Given the description of an element on the screen output the (x, y) to click on. 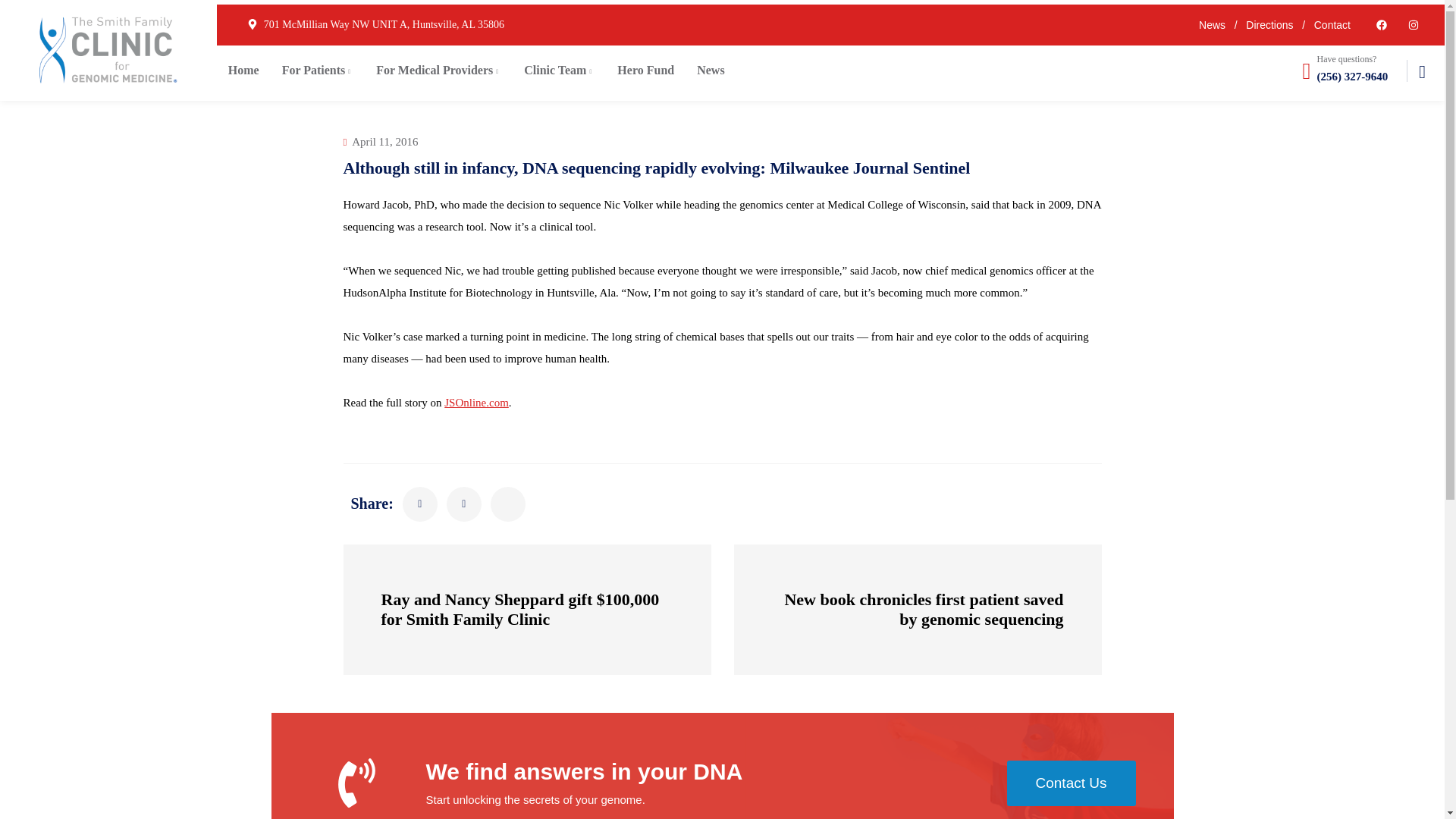
News (1211, 24)
701 McMillian Way NW UNIT A, Huntsville, AL 35806 (383, 24)
For Patients (317, 70)
701 McMillian Way NW UNIT A, Huntsville, AL 35806 (383, 24)
For Patients (317, 70)
For Medical Providers (438, 70)
Contact (1332, 24)
Home (243, 70)
Home (243, 70)
Clinic Team (558, 70)
Directions (1269, 24)
